Given the description of an element on the screen output the (x, y) to click on. 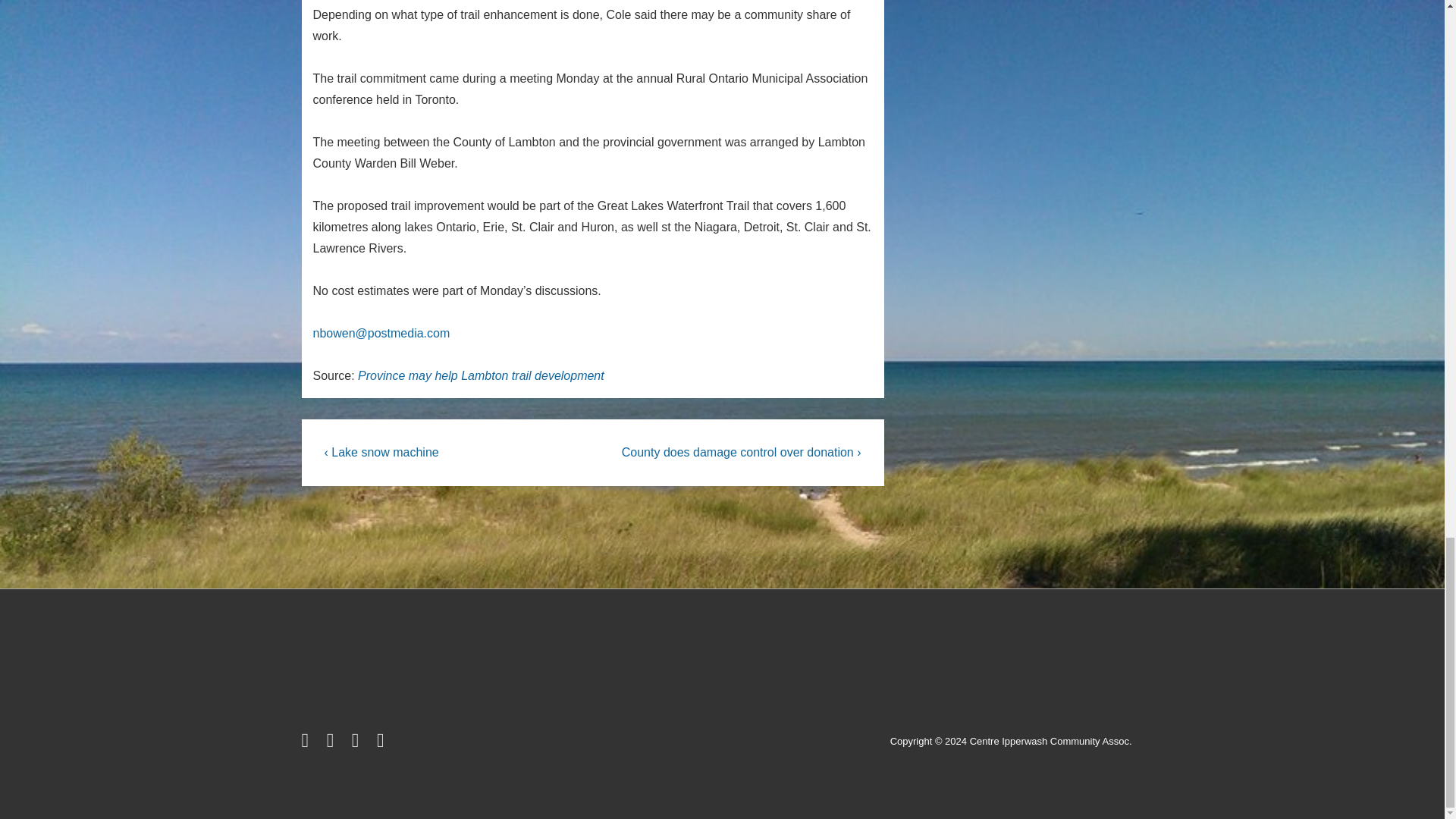
email (382, 743)
twitter (308, 743)
facebook (333, 743)
Province may help Lambton trail development (481, 375)
instagram (358, 743)
